Given the description of an element on the screen output the (x, y) to click on. 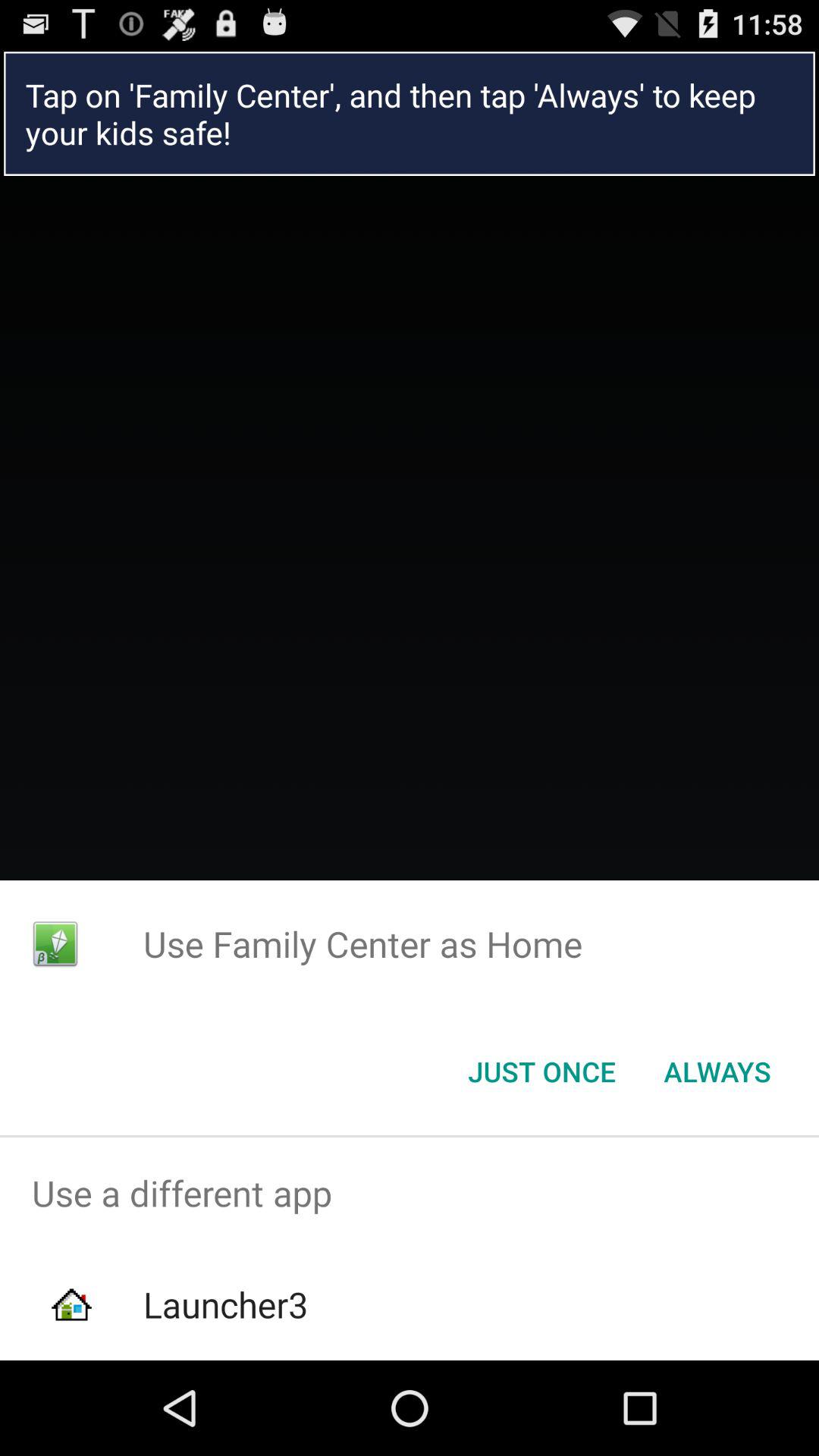
jump until the use a different app (409, 1192)
